Given the description of an element on the screen output the (x, y) to click on. 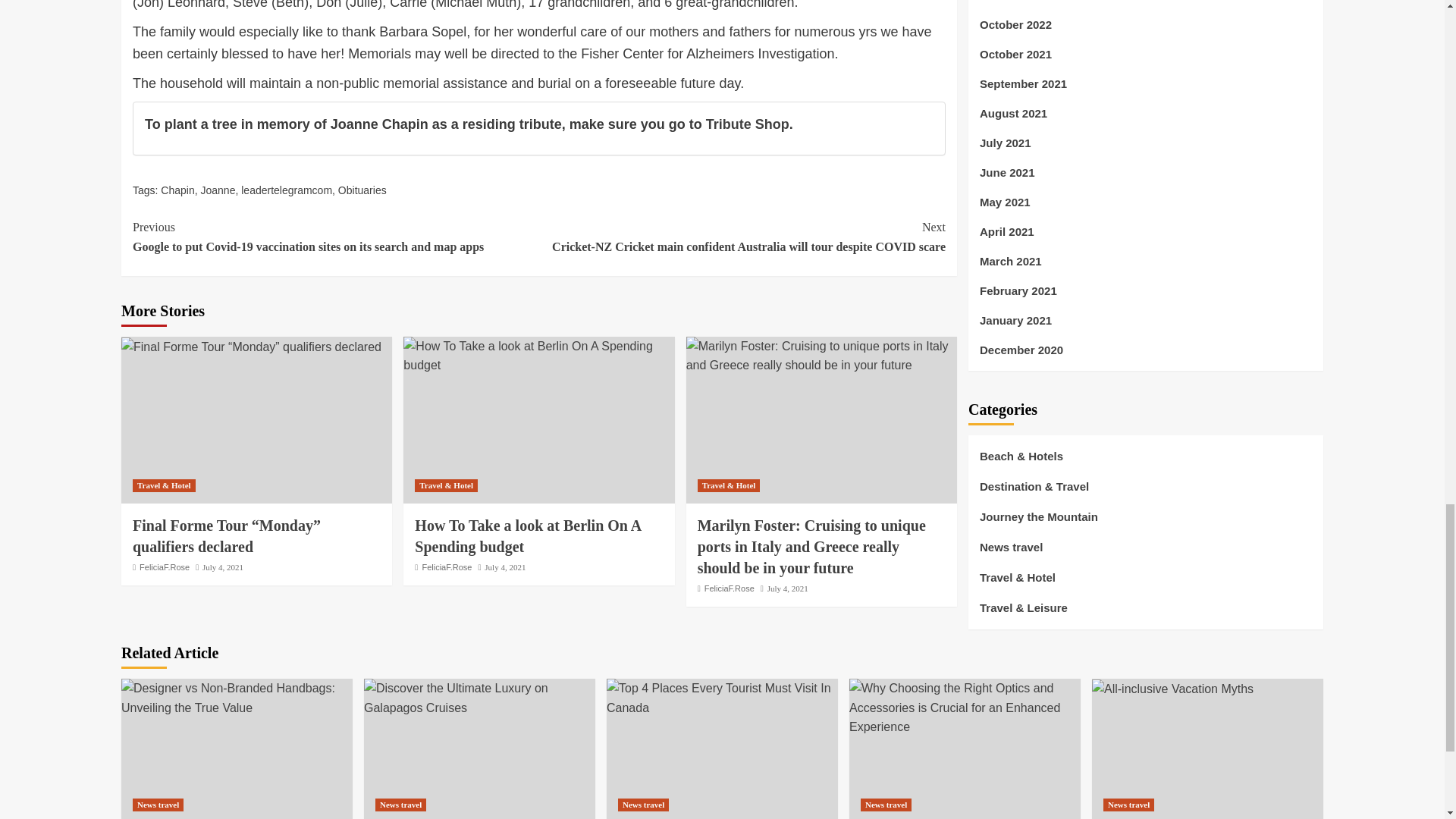
Discover the Ultimate Luxury on Galapagos Cruises (479, 697)
Obituaries (362, 190)
Chapin (176, 190)
How To Take a look at Berlin On A Spending budget (538, 355)
July 4, 2021 (222, 566)
How To Take a look at Berlin On A Spending budget (527, 535)
All-inclusive Vacation Myths (1172, 689)
Joanne (217, 190)
Tribute Shop (747, 124)
Top 4 Places Every Tourist Must Visit In Canada (722, 697)
leadertelegramcom (286, 190)
